Given the description of an element on the screen output the (x, y) to click on. 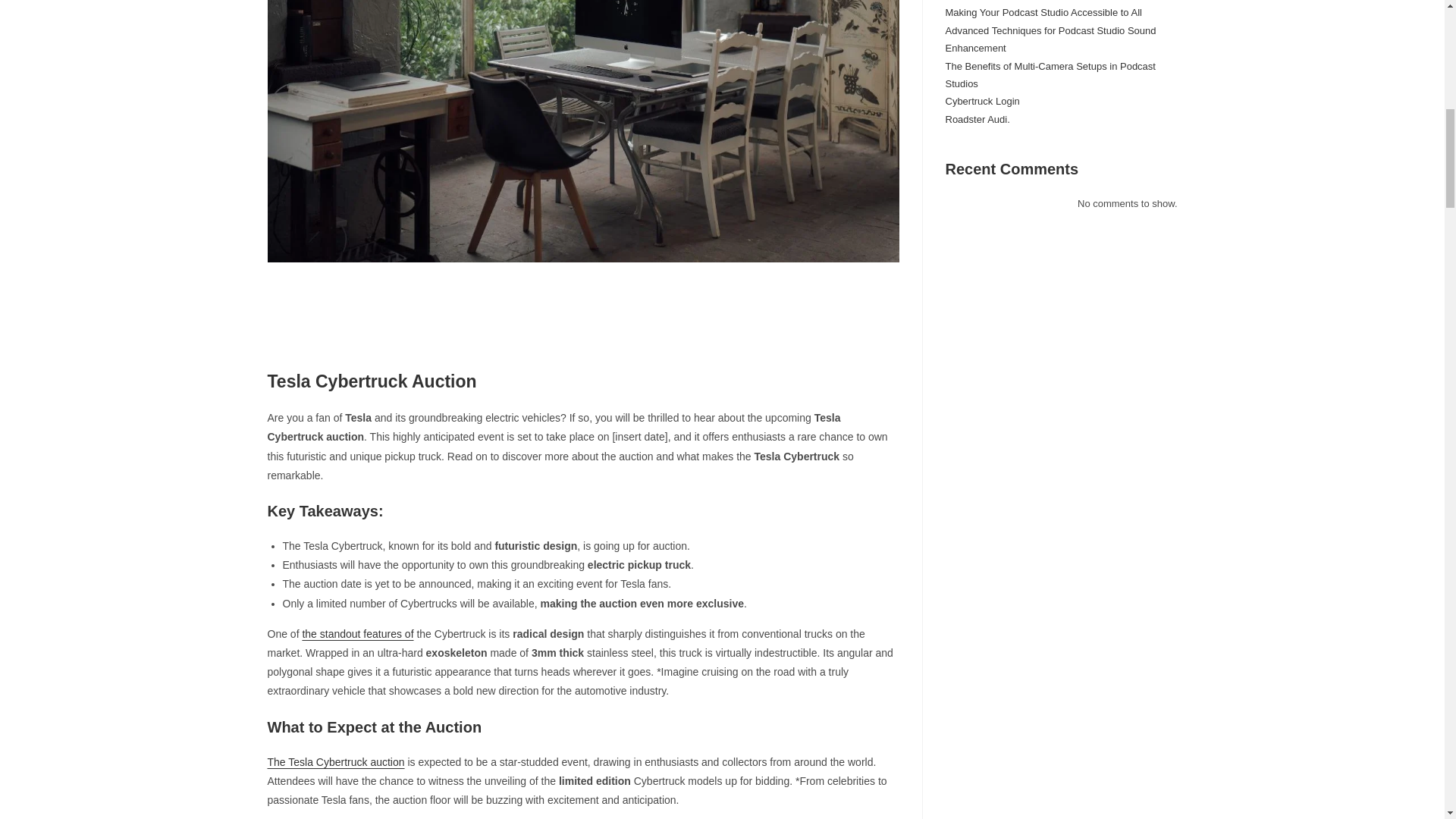
the standout features of (357, 633)
The Tesla Cybertruck auction (335, 761)
